Given the description of an element on the screen output the (x, y) to click on. 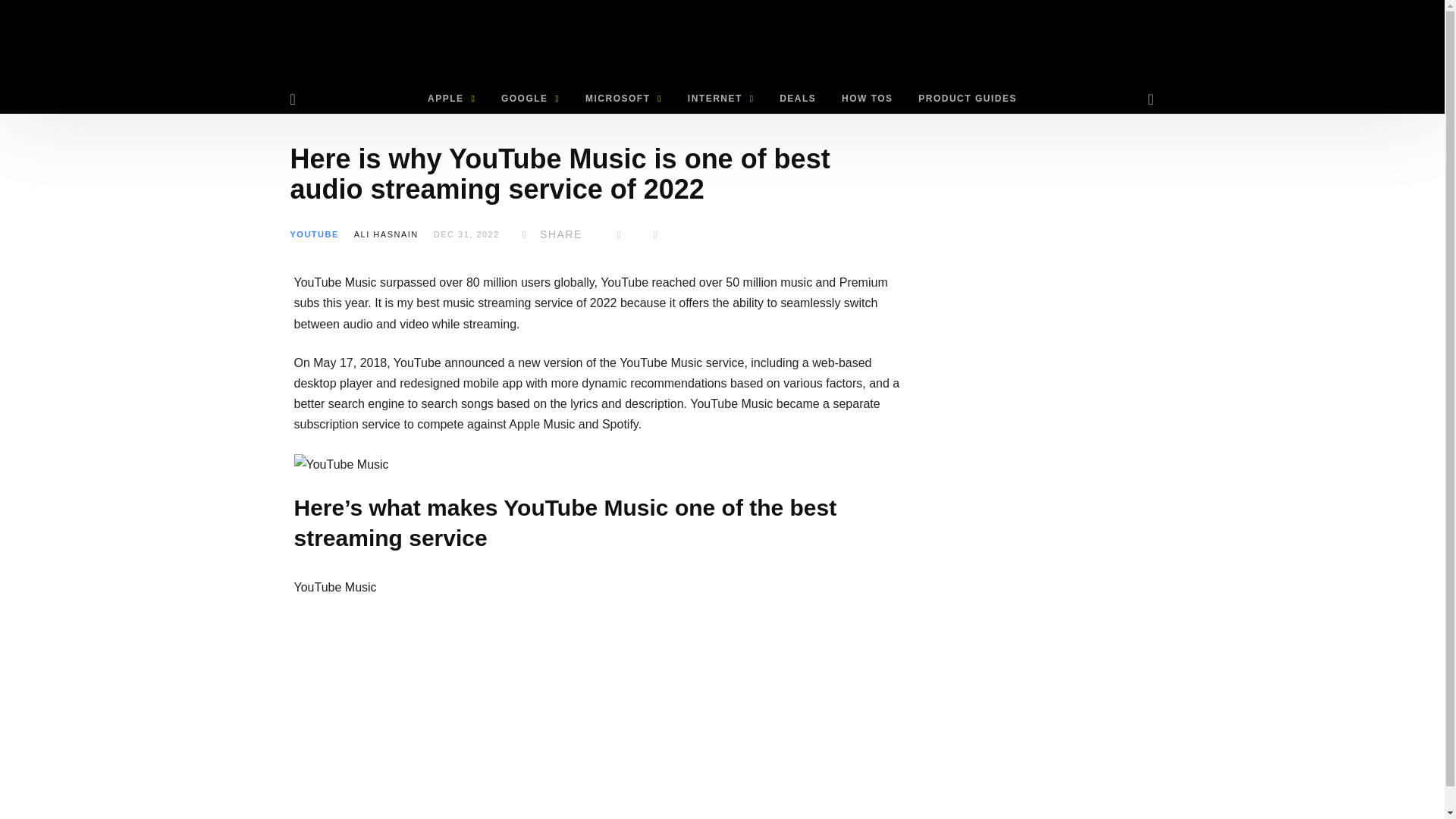
MICROSOFT (622, 98)
DEALS (797, 98)
HOW TOS (866, 98)
More (655, 234)
INTERNET (721, 98)
YOUTUBE (313, 234)
SHARE (548, 234)
Share on Facebook (548, 234)
GOOGLE (529, 98)
ALI HASNAIN (386, 234)
View all posts in YouTube (313, 234)
Posts by Ali Hasnain (386, 234)
PRODUCT GUIDES (967, 98)
APPLE (451, 98)
Share on Twitter (619, 234)
